Given the description of an element on the screen output the (x, y) to click on. 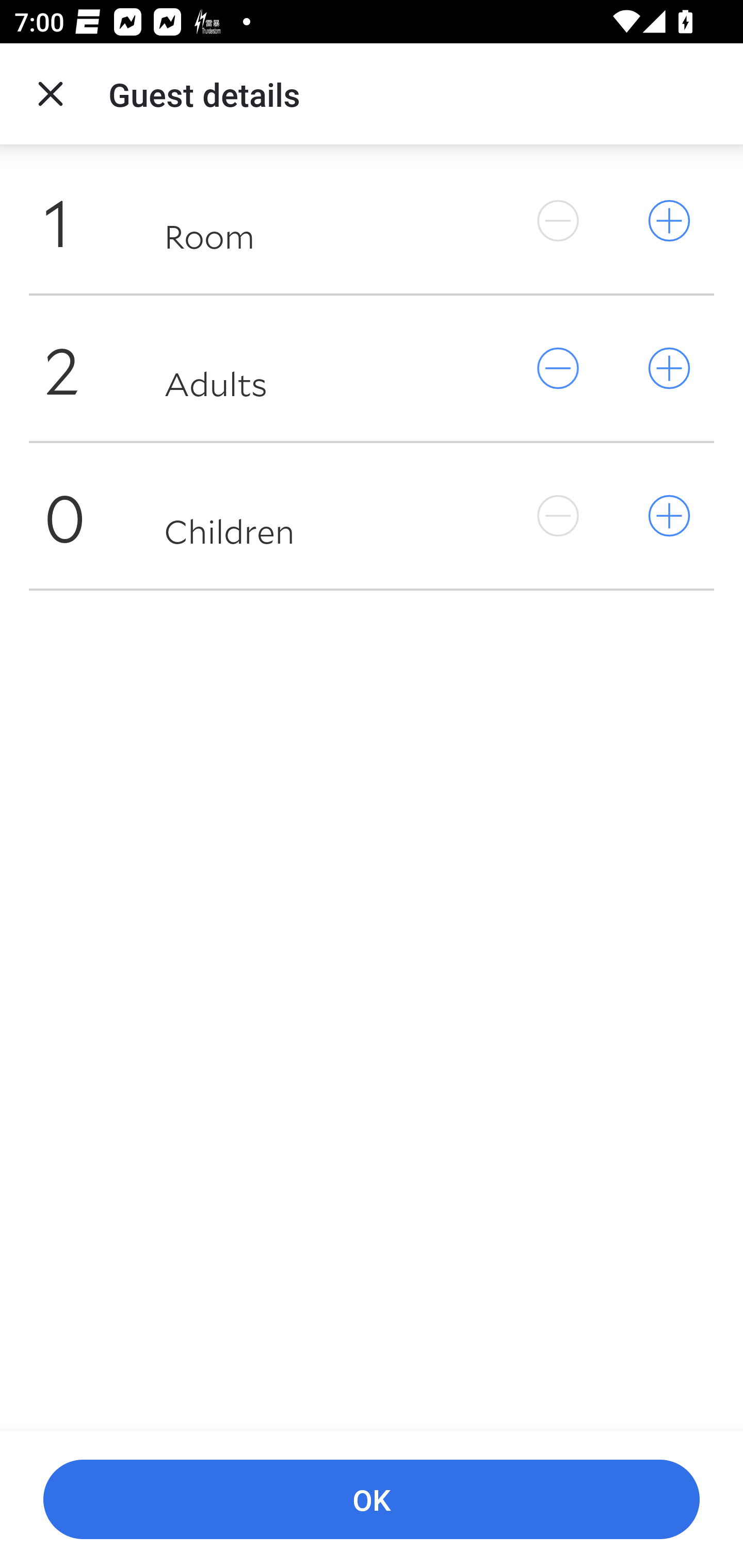
OK (371, 1499)
